Given the description of an element on the screen output the (x, y) to click on. 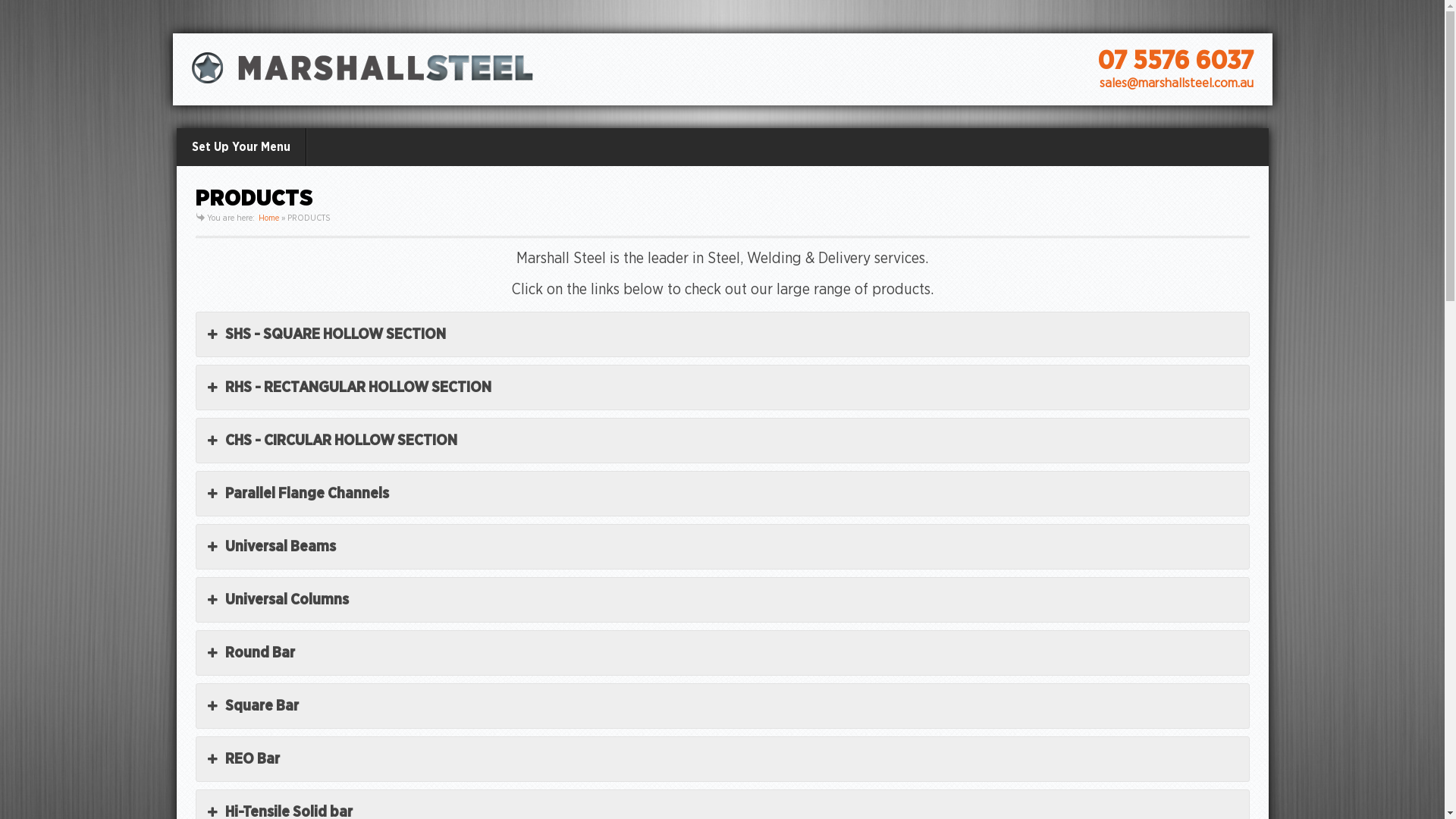
Square Bar Element type: text (721, 706)
REO Bar Element type: text (721, 759)
Universal Columns Element type: text (721, 599)
Round Bar Element type: text (721, 652)
CHS - CIRCULAR HOLLOW SECTION Element type: text (721, 440)
Universal Beams Element type: text (721, 546)
Set Up Your Menu Element type: text (240, 147)
SHS - SQUARE HOLLOW SECTION Element type: text (721, 334)
Parallel Flange Channels Element type: text (721, 493)
Home Element type: text (267, 217)
sales@marshallsteel.com.au Element type: text (1176, 83)
Marshall Steel Element type: hover (361, 67)
07 5576 6037 Element type: text (1174, 61)
RHS - RECTANGULAR HOLLOW SECTION Element type: text (721, 387)
